Given the description of an element on the screen output the (x, y) to click on. 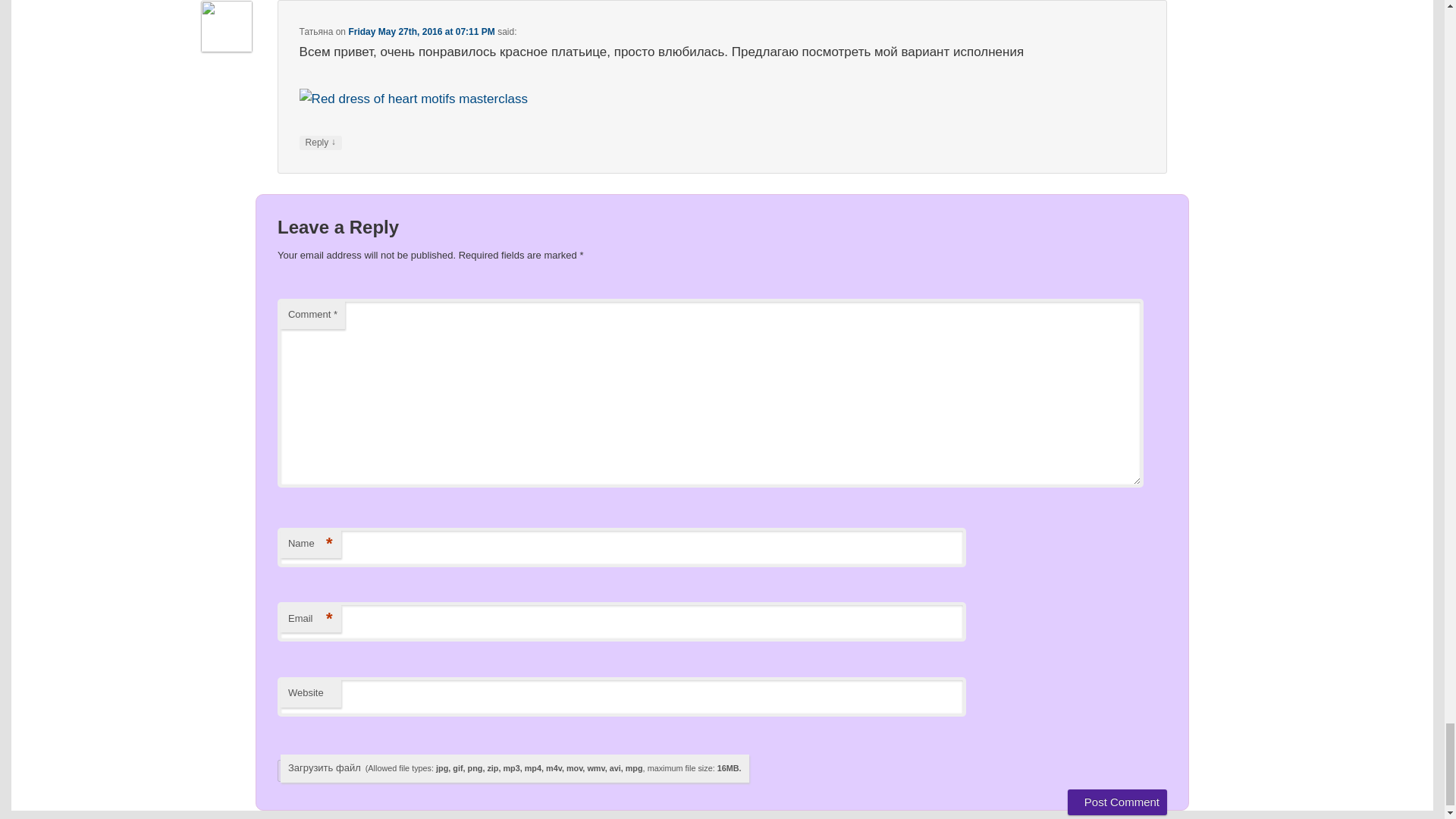
Post Comment (1117, 801)
